Given the description of an element on the screen output the (x, y) to click on. 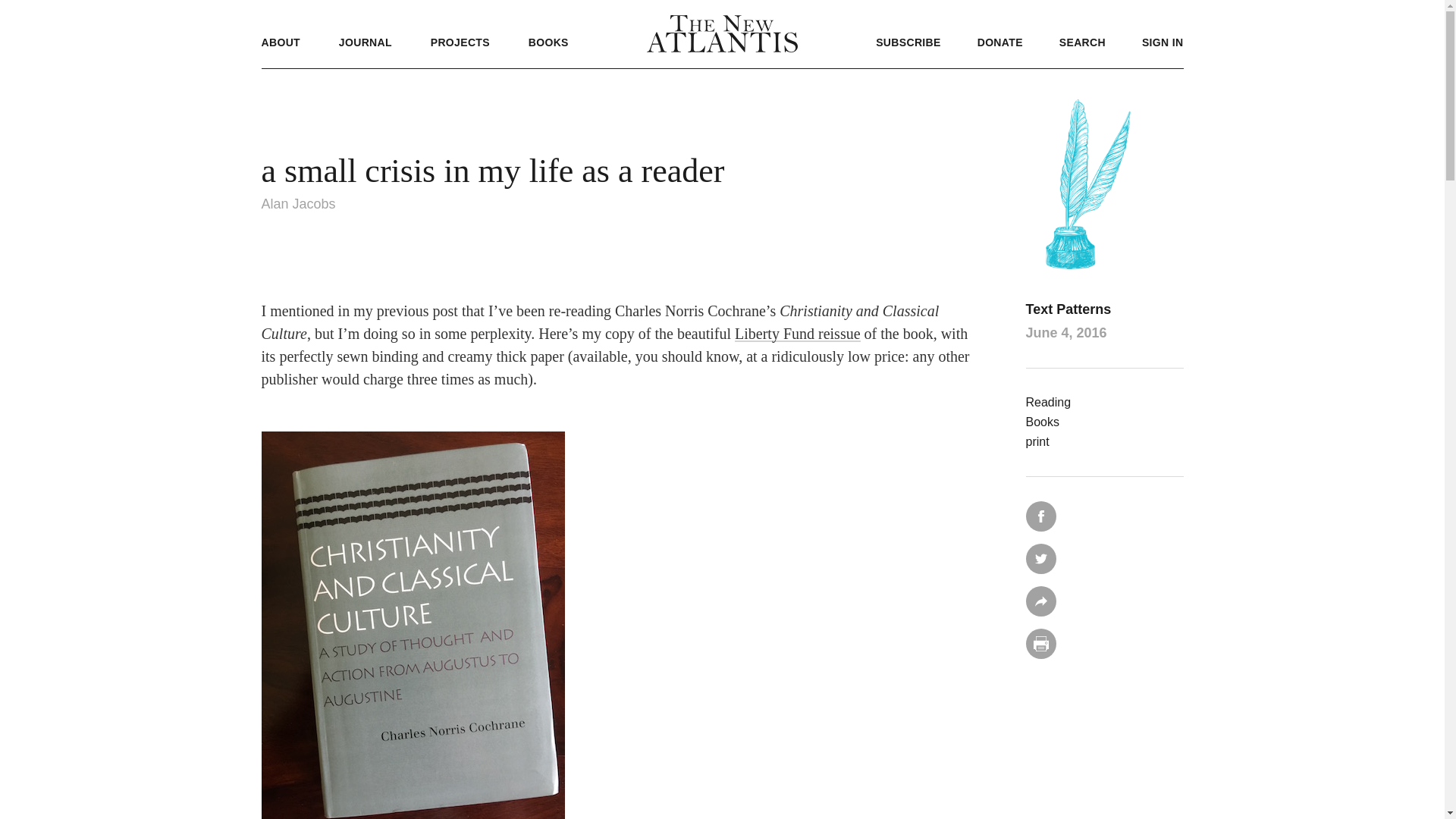
SUBSCRIBE (908, 42)
BOOKS (548, 42)
Tweet this article (1040, 558)
JOURNAL (365, 42)
Print this article (1040, 643)
SIGN IN (1162, 42)
ABOUT (279, 42)
PROJECTS (459, 42)
Share on Facebook (1040, 516)
Copy article link to clipboard (1040, 601)
DONATE (999, 42)
SEARCH (1082, 42)
Liberty Fund reissue (797, 333)
